Given the description of an element on the screen output the (x, y) to click on. 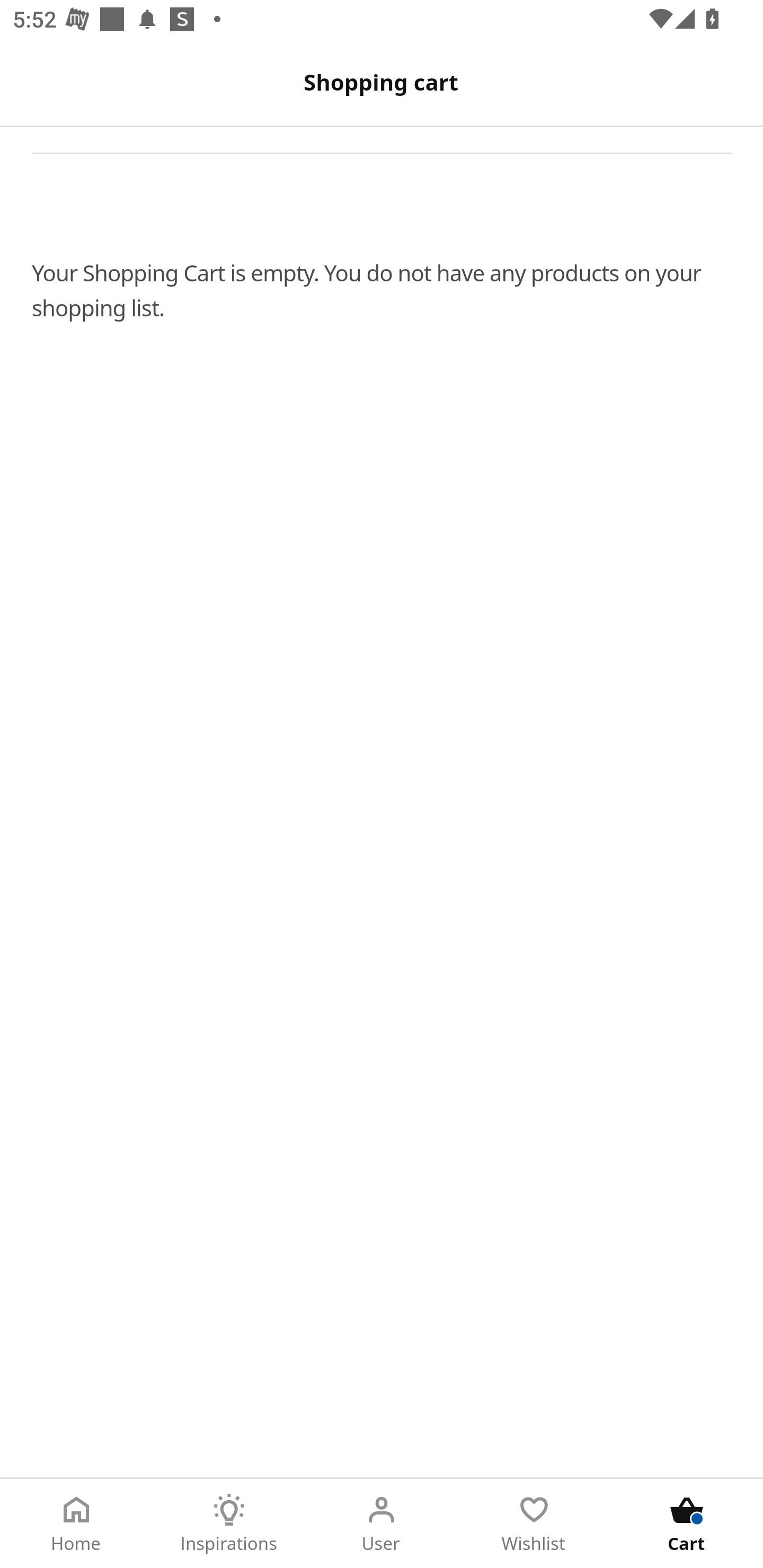
Home
Tab 1 of 5 (76, 1522)
Inspirations
Tab 2 of 5 (228, 1522)
User
Tab 3 of 5 (381, 1522)
Wishlist
Tab 4 of 5 (533, 1522)
Cart
Tab 5 of 5 (686, 1522)
